Given the description of an element on the screen output the (x, y) to click on. 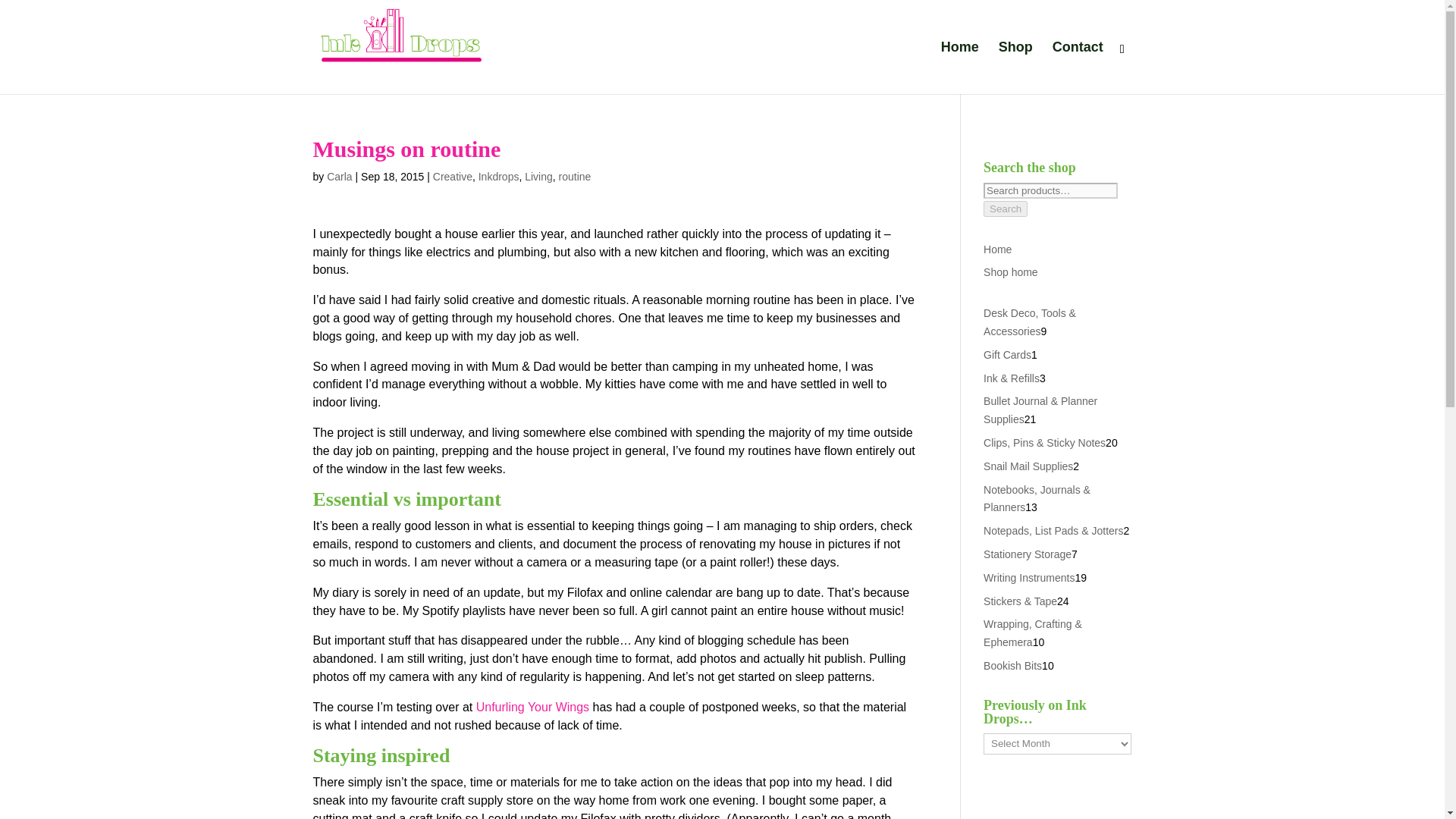
Stationery Storage (1027, 572)
Living (538, 176)
Creative (451, 176)
Snail Mail Supplies (1028, 466)
Bookish Bits (1013, 684)
Shop home (1011, 272)
routine (575, 176)
Gift Cards (1007, 354)
Inkdrops (499, 176)
Posts by Carla (339, 176)
